Given the description of an element on the screen output the (x, y) to click on. 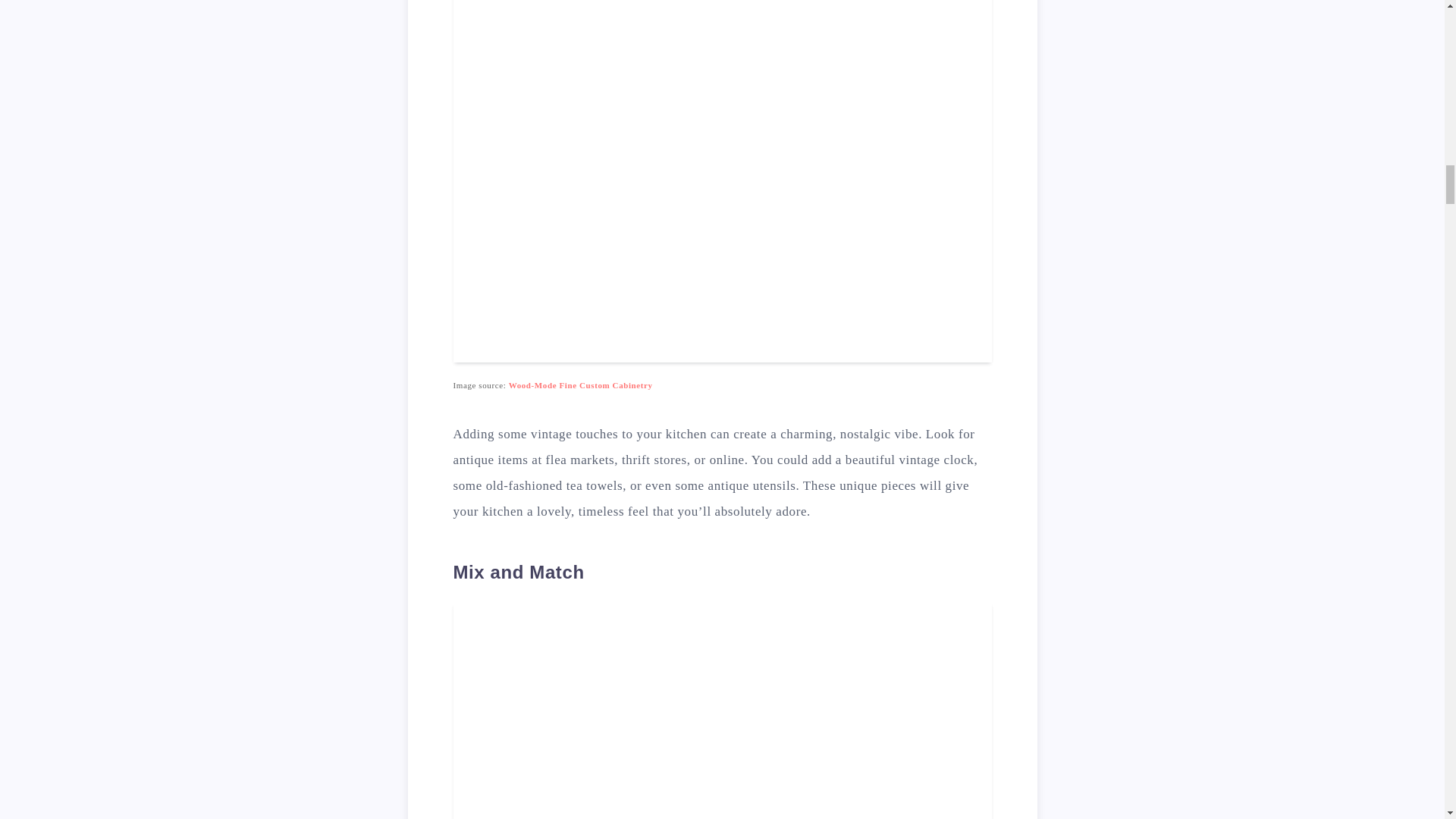
Wood-Mode Fine Custom Cabinetry (580, 384)
